Given the description of an element on the screen output the (x, y) to click on. 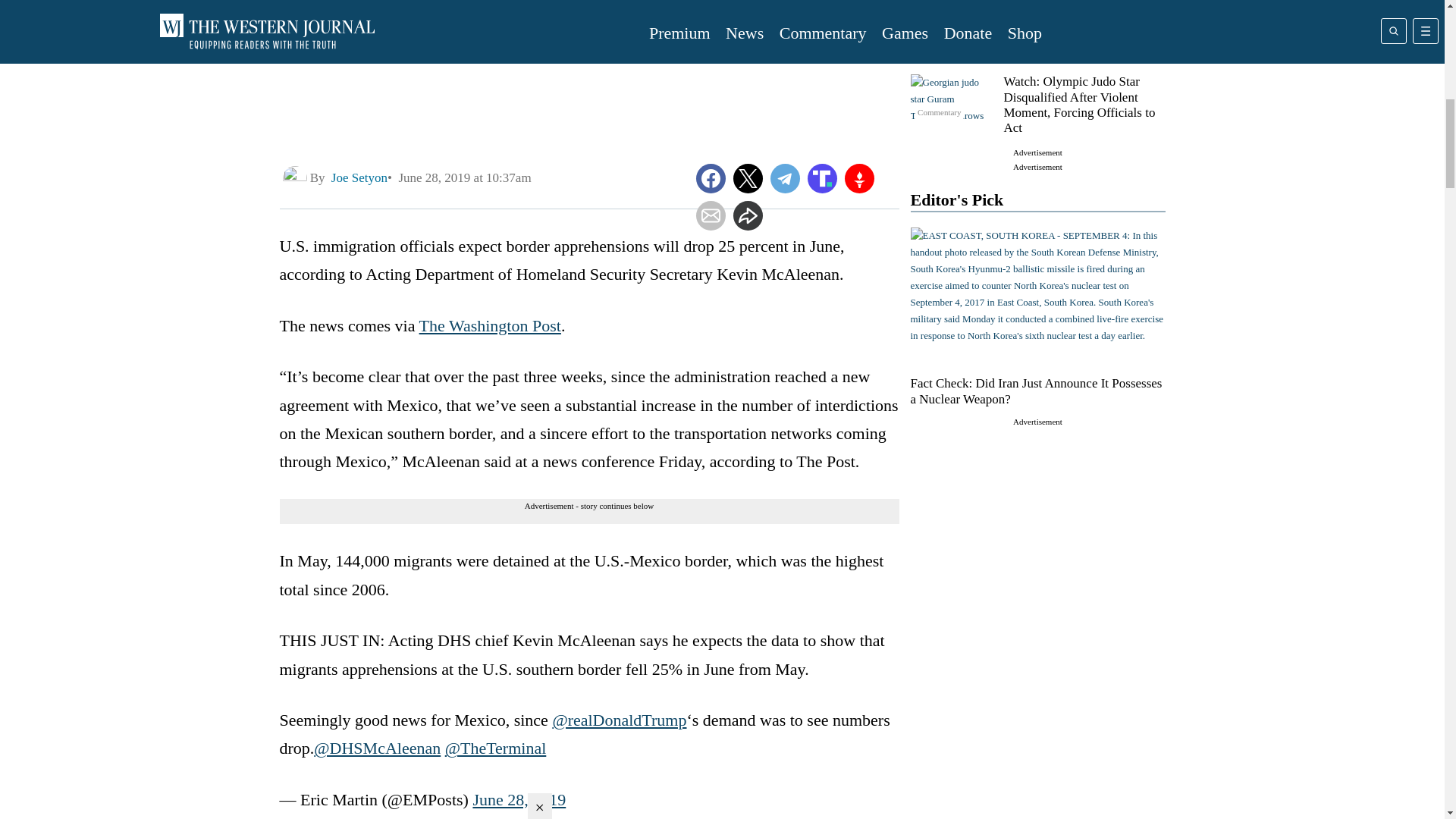
Commentary (952, 12)
